Given the description of an element on the screen output the (x, y) to click on. 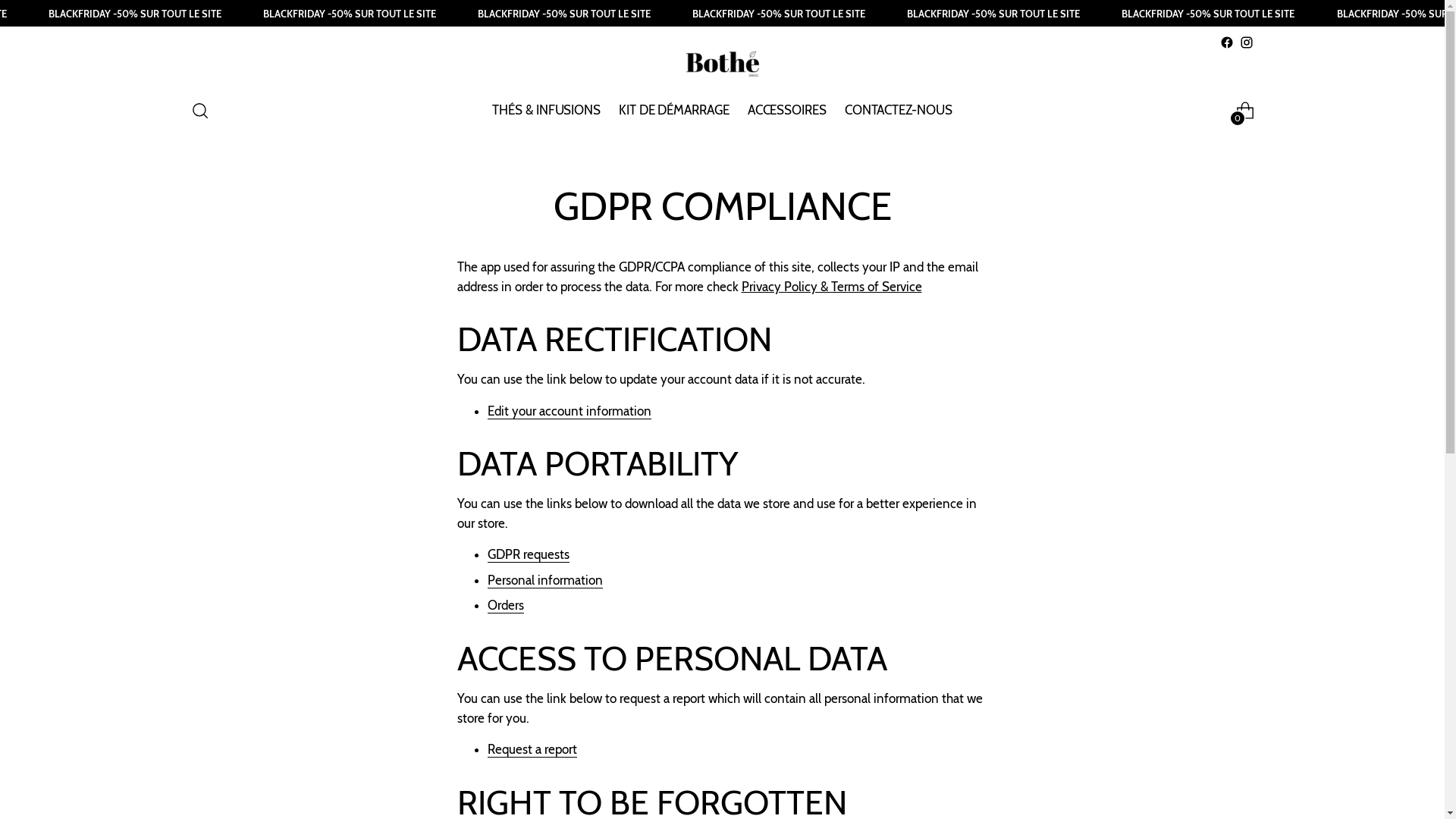
Orders Element type: text (504, 605)
Personal information Element type: text (544, 580)
ACCESSOIRES Element type: text (786, 110)
Privacy Policy & Terms of Service Element type: text (831, 286)
GDPR requests Element type: text (527, 554)
0 Element type: text (1245, 110)
Bothe Swiss sur Instagram Element type: hover (1245, 42)
CONTACTEZ-NOUS Element type: text (898, 110)
Request a report Element type: text (531, 749)
Edit your account information Element type: text (568, 411)
Bothe Swiss sur Facebook Element type: hover (1226, 42)
